Given the description of an element on the screen output the (x, y) to click on. 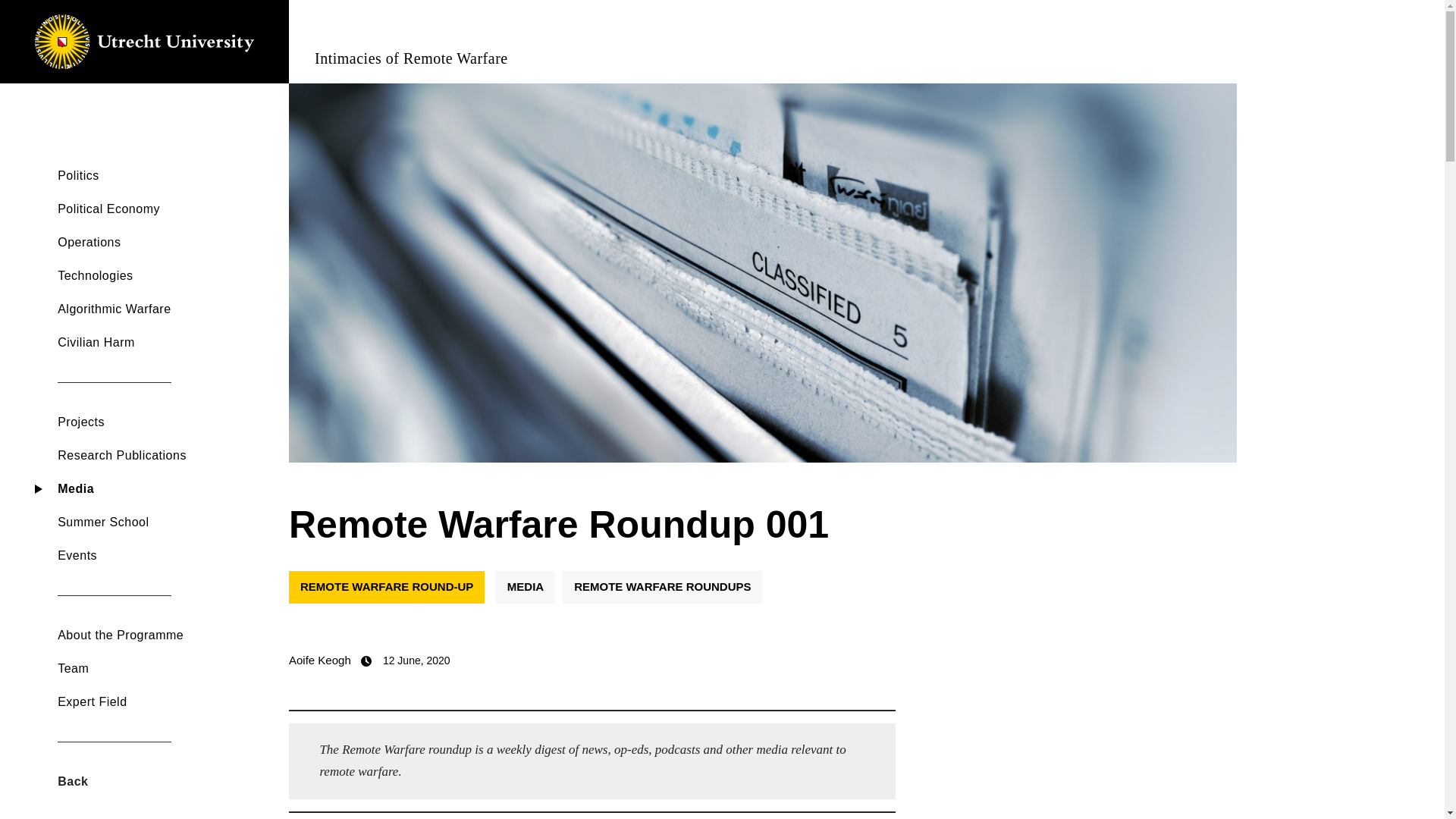
Back (159, 781)
Expert Field (159, 702)
Algorithmic Warfare (159, 308)
Research Publications (159, 455)
Operations (159, 242)
Events (159, 555)
REMOTE WARFARE ROUNDUPS (661, 586)
Projects (159, 421)
Summer School (159, 522)
Technologies (159, 275)
